Given the description of an element on the screen output the (x, y) to click on. 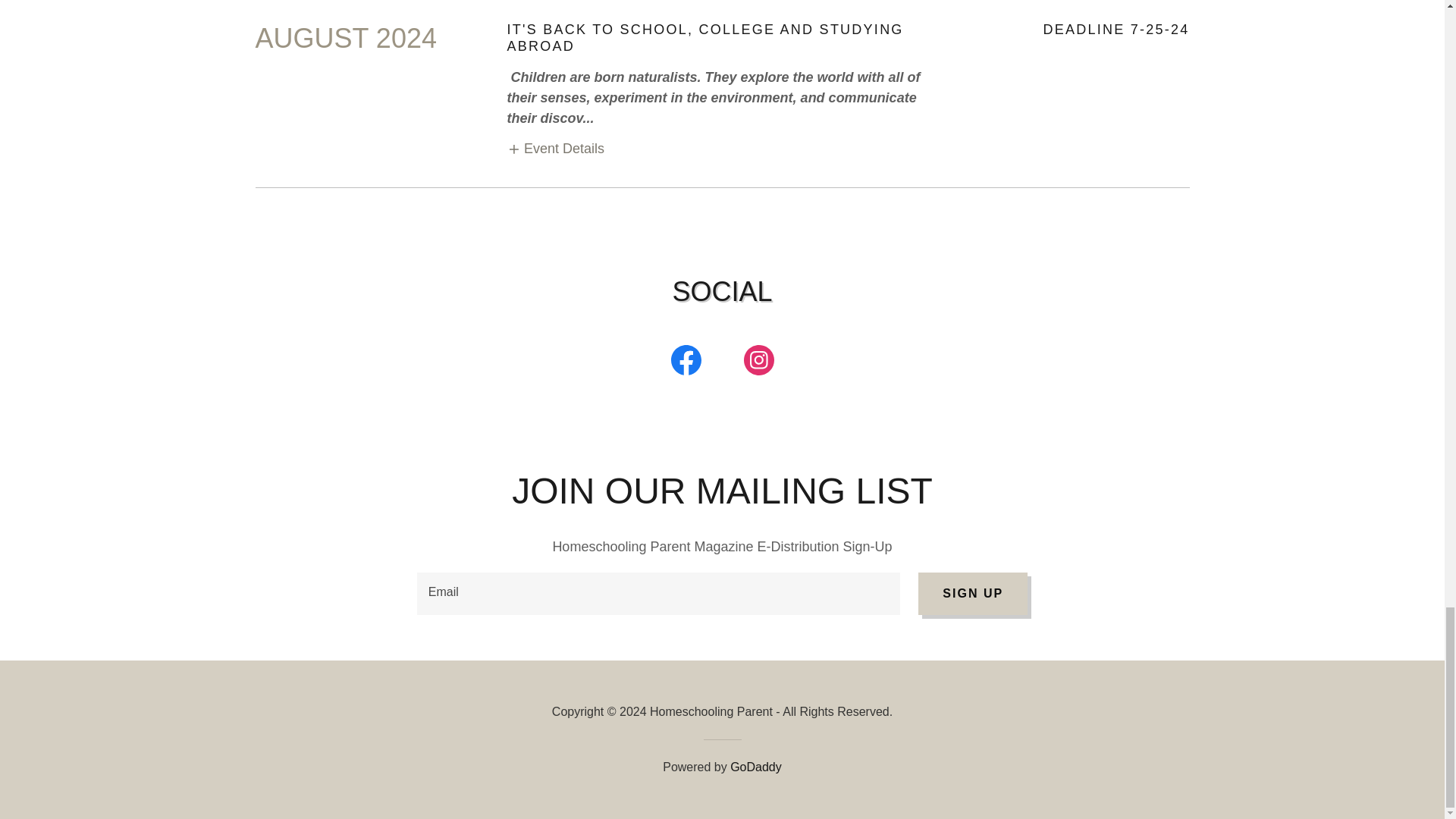
SIGN UP (972, 593)
GoDaddy (755, 766)
